Given the description of an element on the screen output the (x, y) to click on. 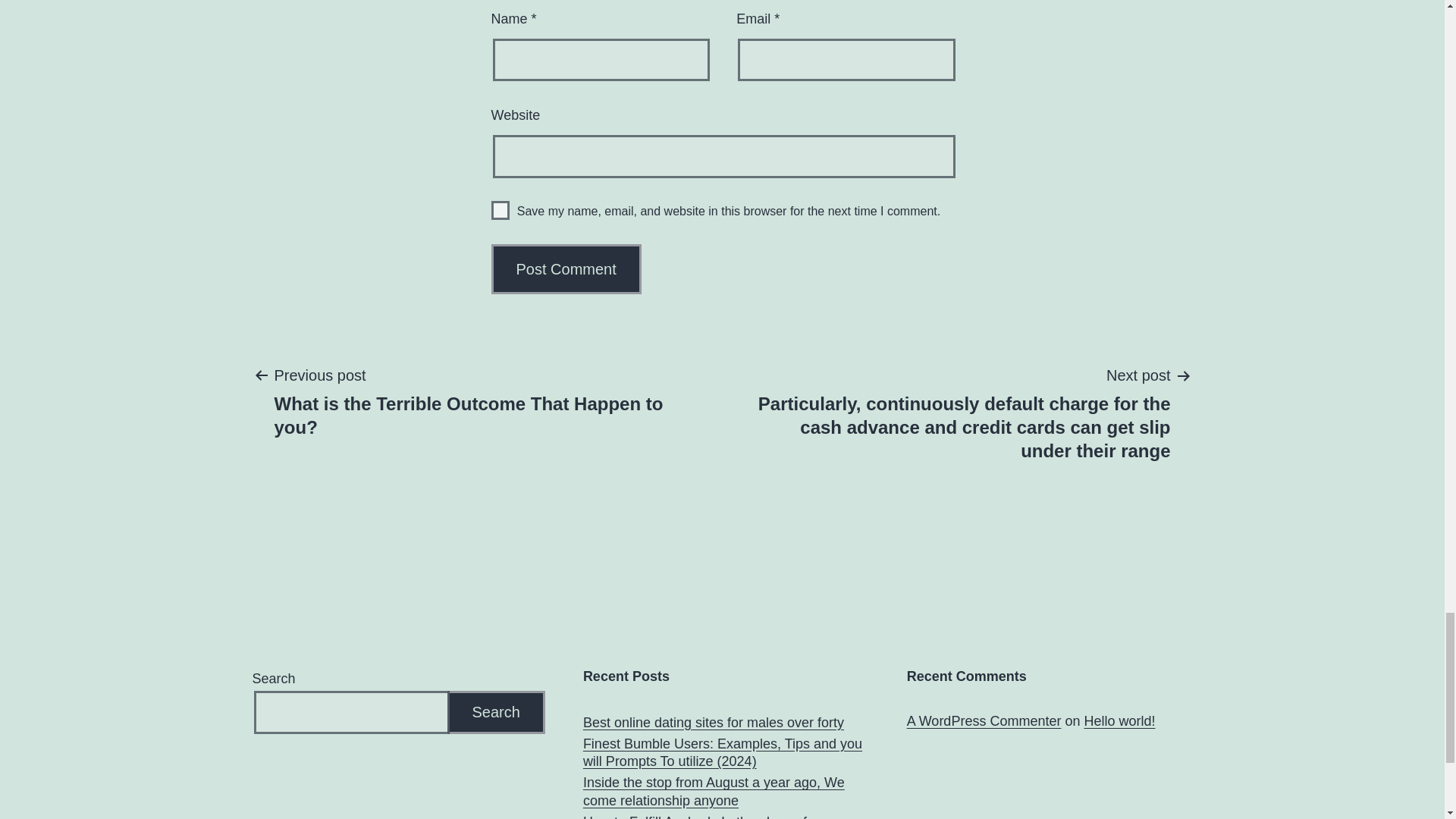
Search (495, 712)
Hello world! (1118, 720)
Post Comment (567, 269)
A WordPress Commenter (984, 720)
Best online dating sites for males over forty (713, 723)
Post Comment (567, 269)
yes (500, 210)
